Given the description of an element on the screen output the (x, y) to click on. 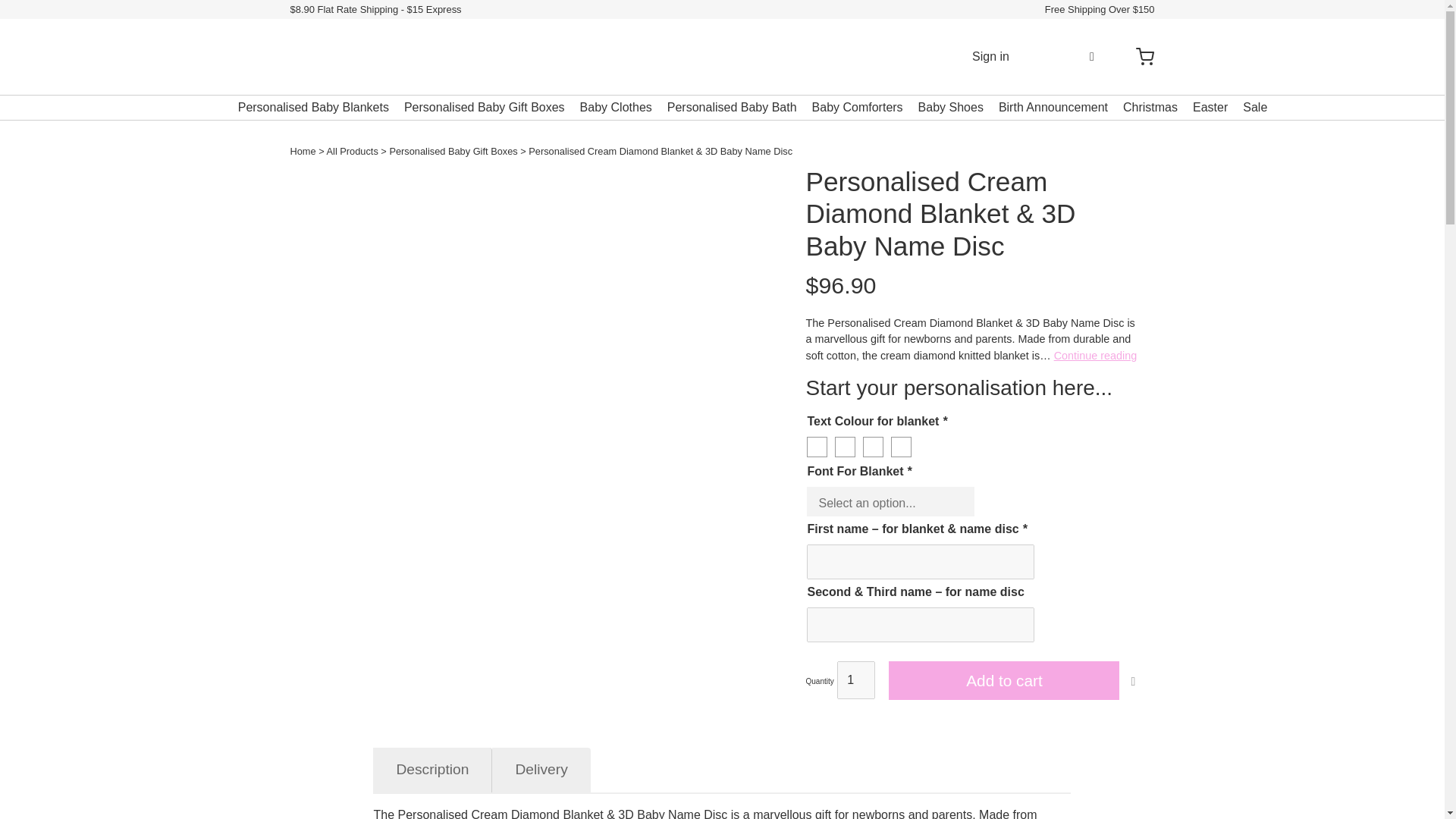
Christmas (1149, 106)
Baby Comforters (857, 106)
Personalised Baby Gift Boxes (452, 151)
Personalised Baby Blankets (313, 106)
All Products (352, 151)
Baby Shoes (951, 106)
Personalised Baby Bath (731, 106)
Sign in (990, 56)
Home (302, 151)
Personalised Baby Gift Boxes (484, 106)
1 (856, 679)
Easter (1209, 106)
Baby Clothes (615, 106)
Sale (1254, 106)
Continue reading (1095, 355)
